Given the description of an element on the screen output the (x, y) to click on. 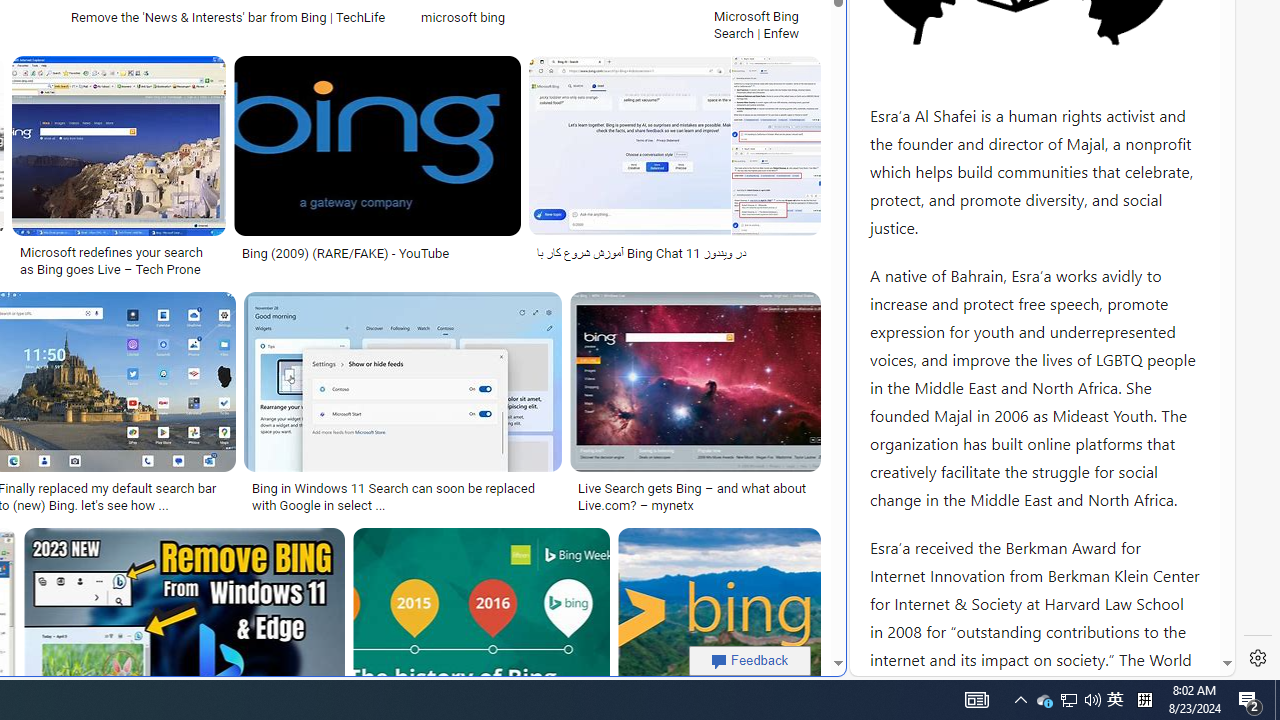
Microsoft Bing Search | Enfew (763, 24)
microsoft bing (463, 16)
Bing (2009) (RARE/FAKE) - YouTube (377, 253)
microsoft bing (555, 16)
